Given the description of an element on the screen output the (x, y) to click on. 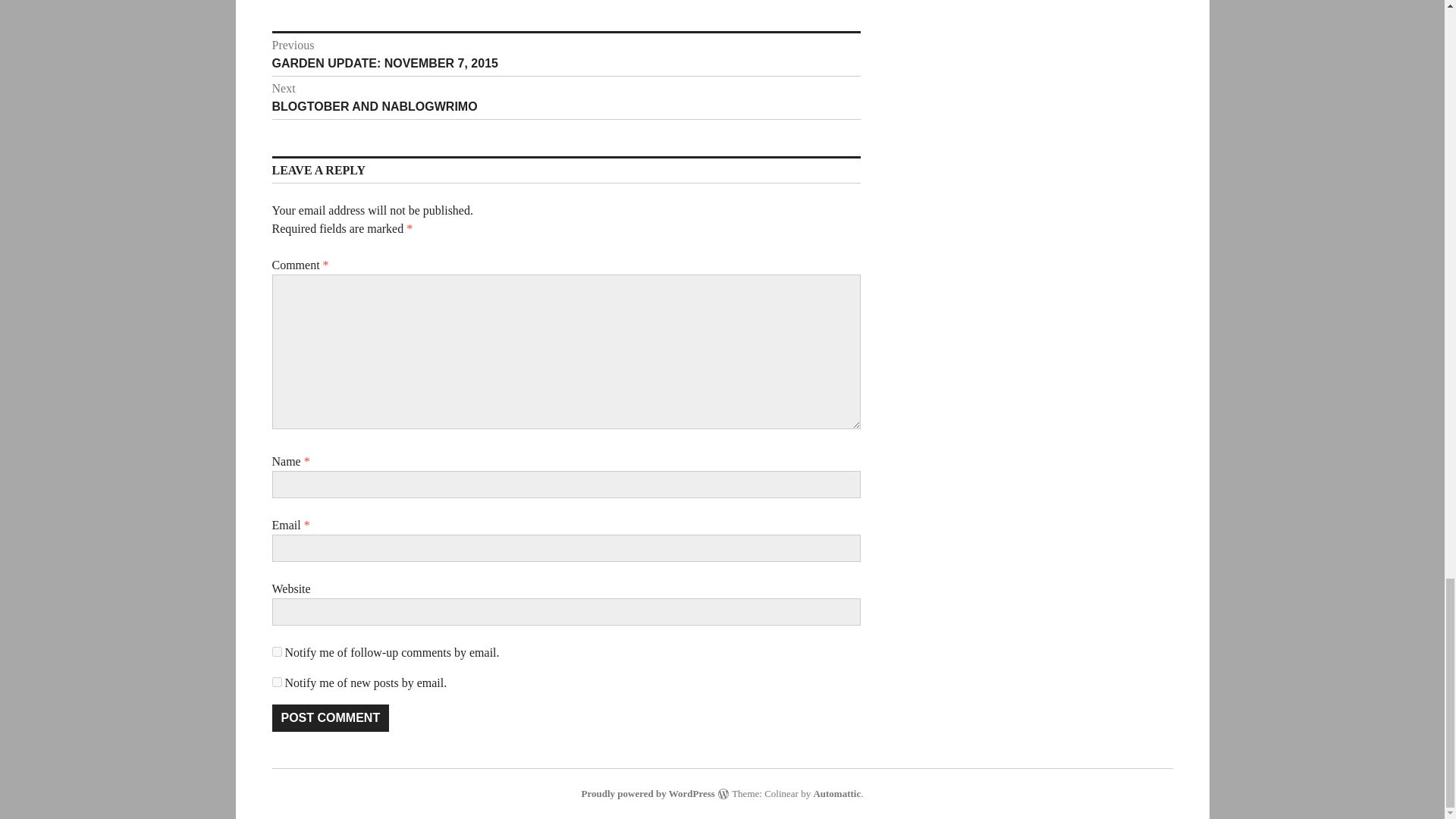
Post Comment (565, 97)
Post Comment (329, 718)
subscribe (329, 718)
subscribe (565, 54)
